Given the description of an element on the screen output the (x, y) to click on. 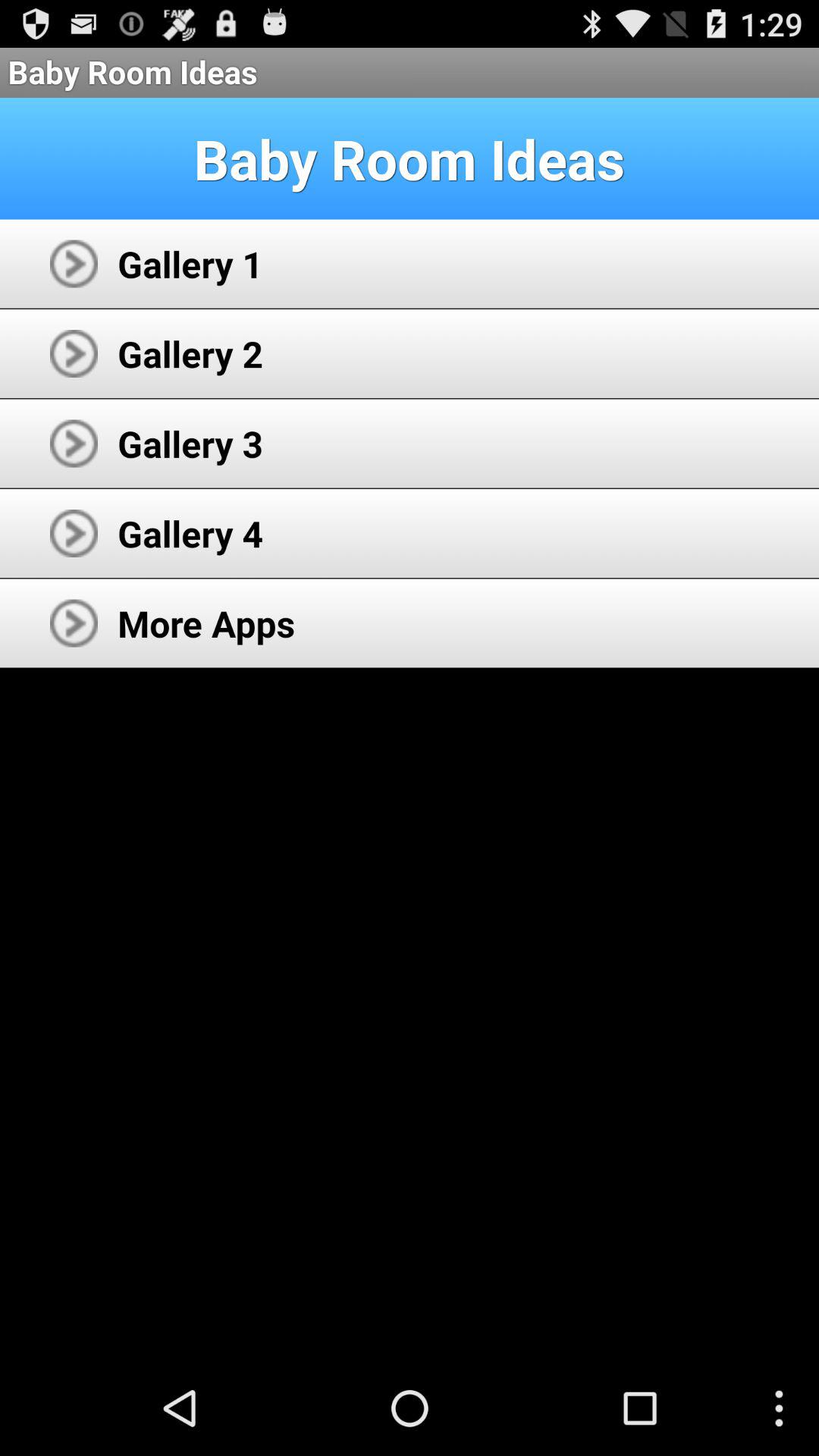
turn off app below the gallery 1 icon (190, 353)
